Given the description of an element on the screen output the (x, y) to click on. 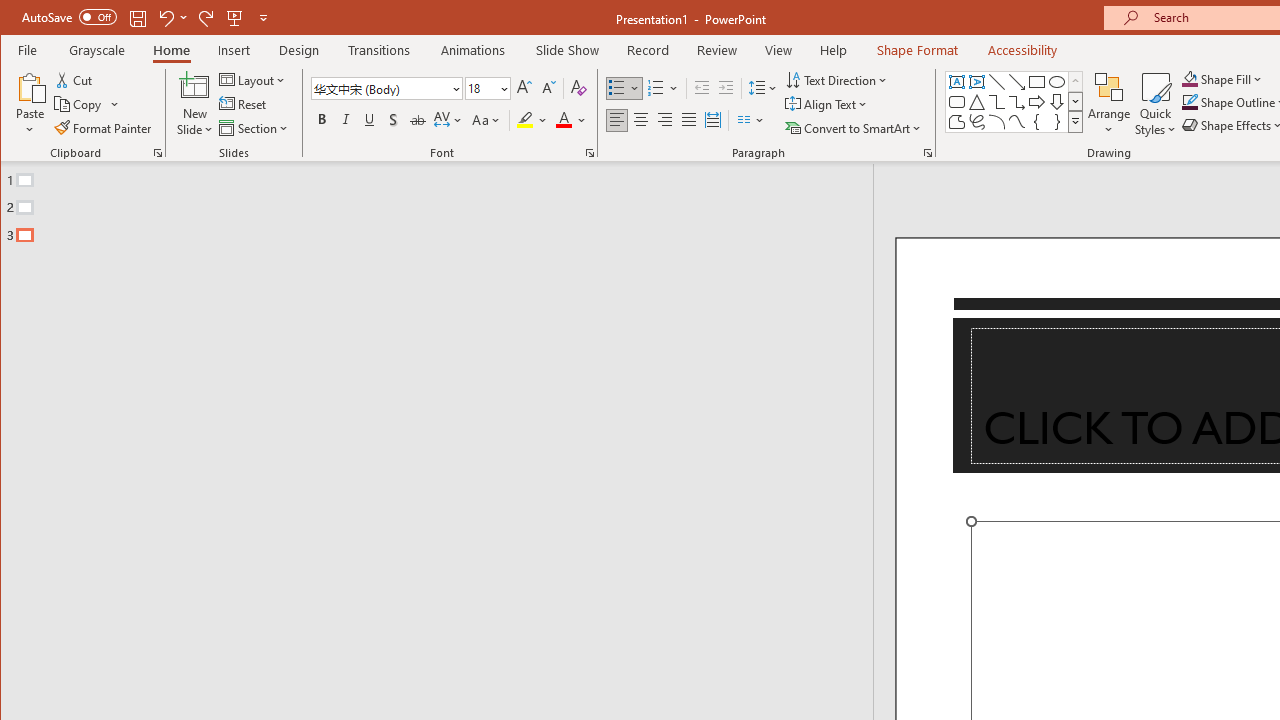
Grayscale (97, 50)
